Given the description of an element on the screen output the (x, y) to click on. 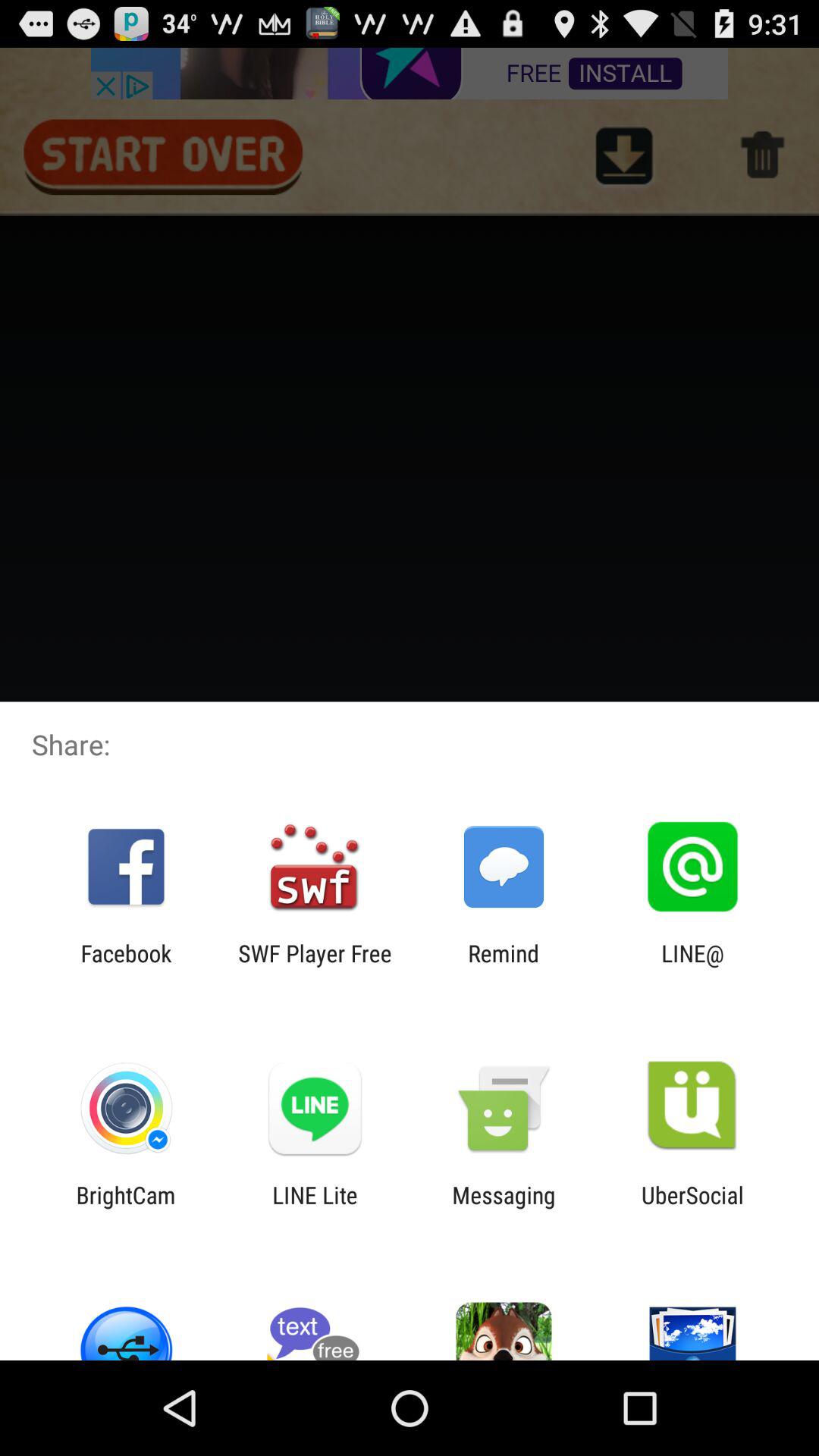
press app next to remind (314, 966)
